Given the description of an element on the screen output the (x, y) to click on. 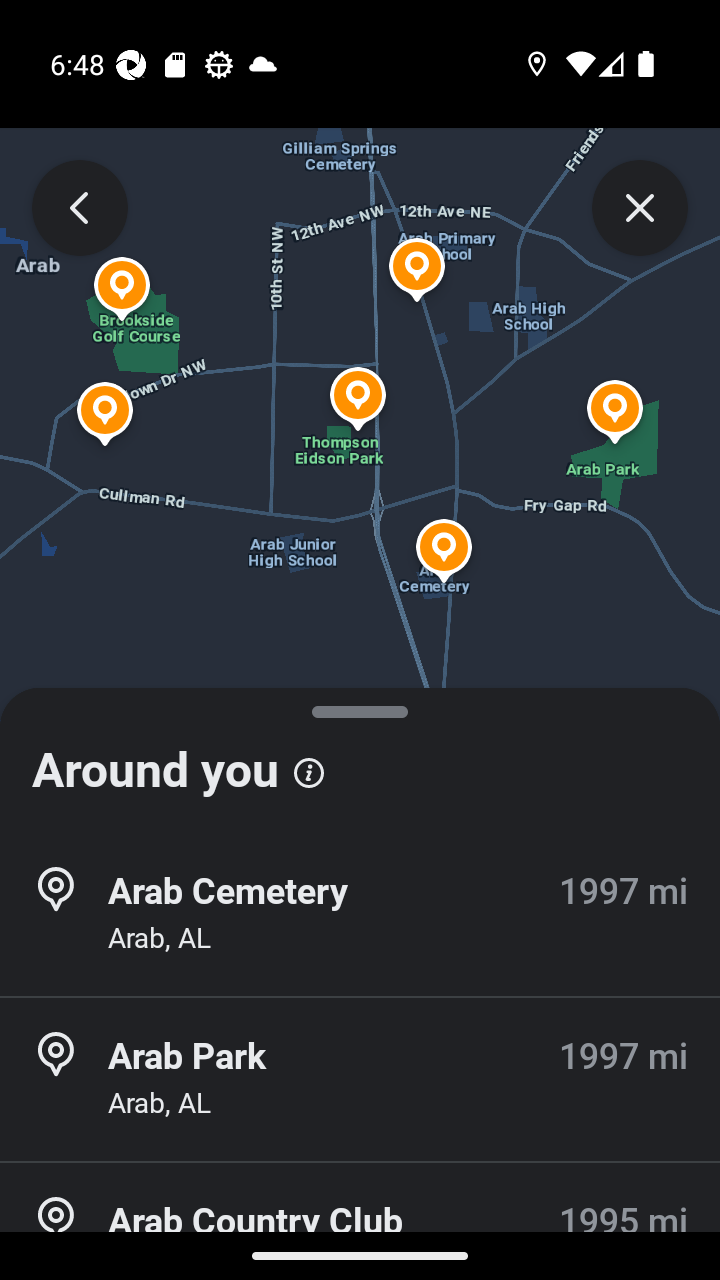
Around you (360, 760)
Arab Cemetery 1997 mi Arab, AL (360, 914)
Arab Park 1997 mi Arab, AL (360, 1079)
Arab Country Club 1995 mi Arab, AL (360, 1221)
